Given the description of an element on the screen output the (x, y) to click on. 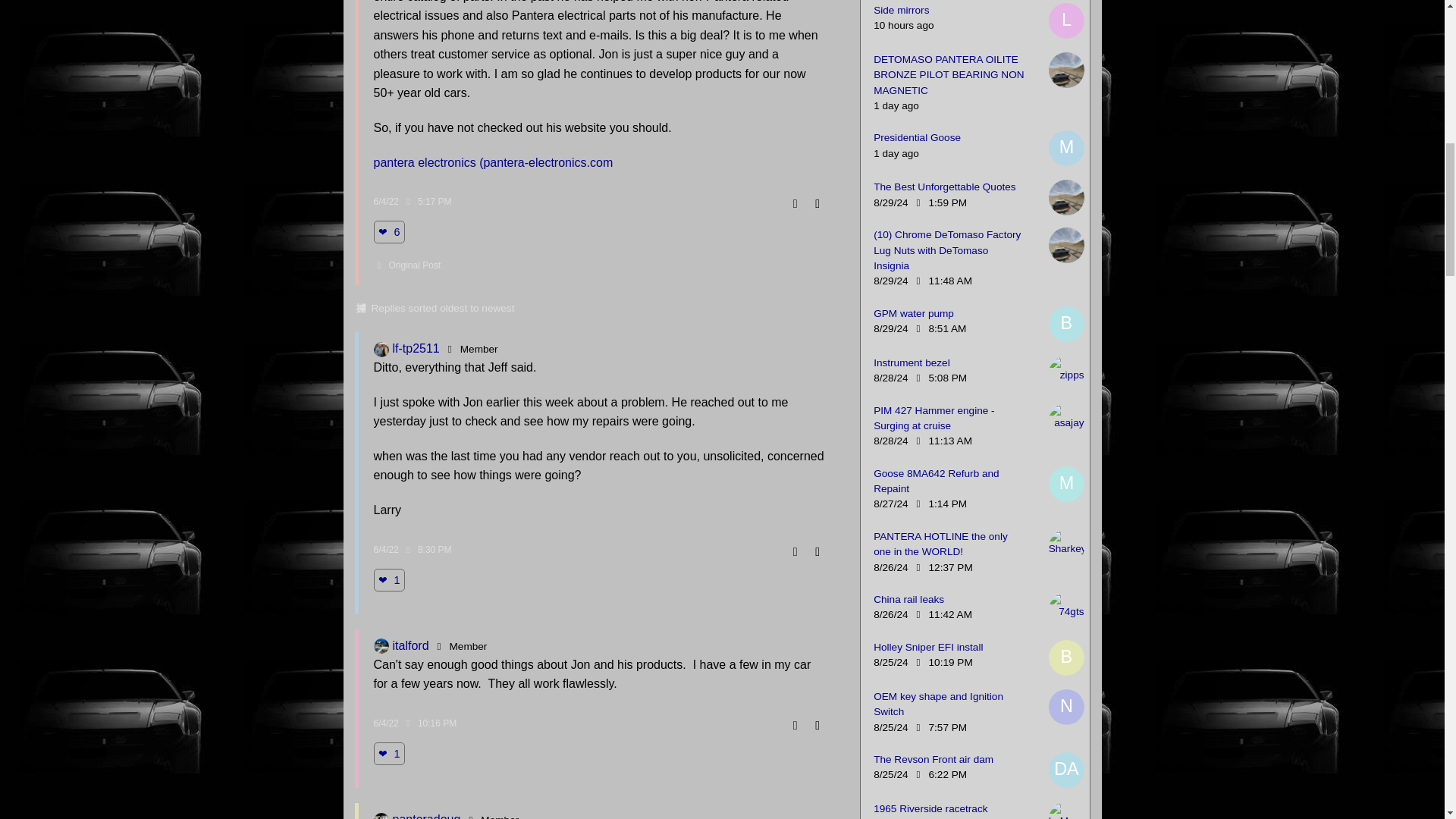
italford (380, 645)
M (1066, 484)
M (1066, 148)
panteradoug (380, 816)
DA (1066, 769)
B (1066, 323)
L (1066, 20)
N (1066, 706)
B (1066, 657)
lf-tp2511 (380, 349)
